Given the description of an element on the screen output the (x, y) to click on. 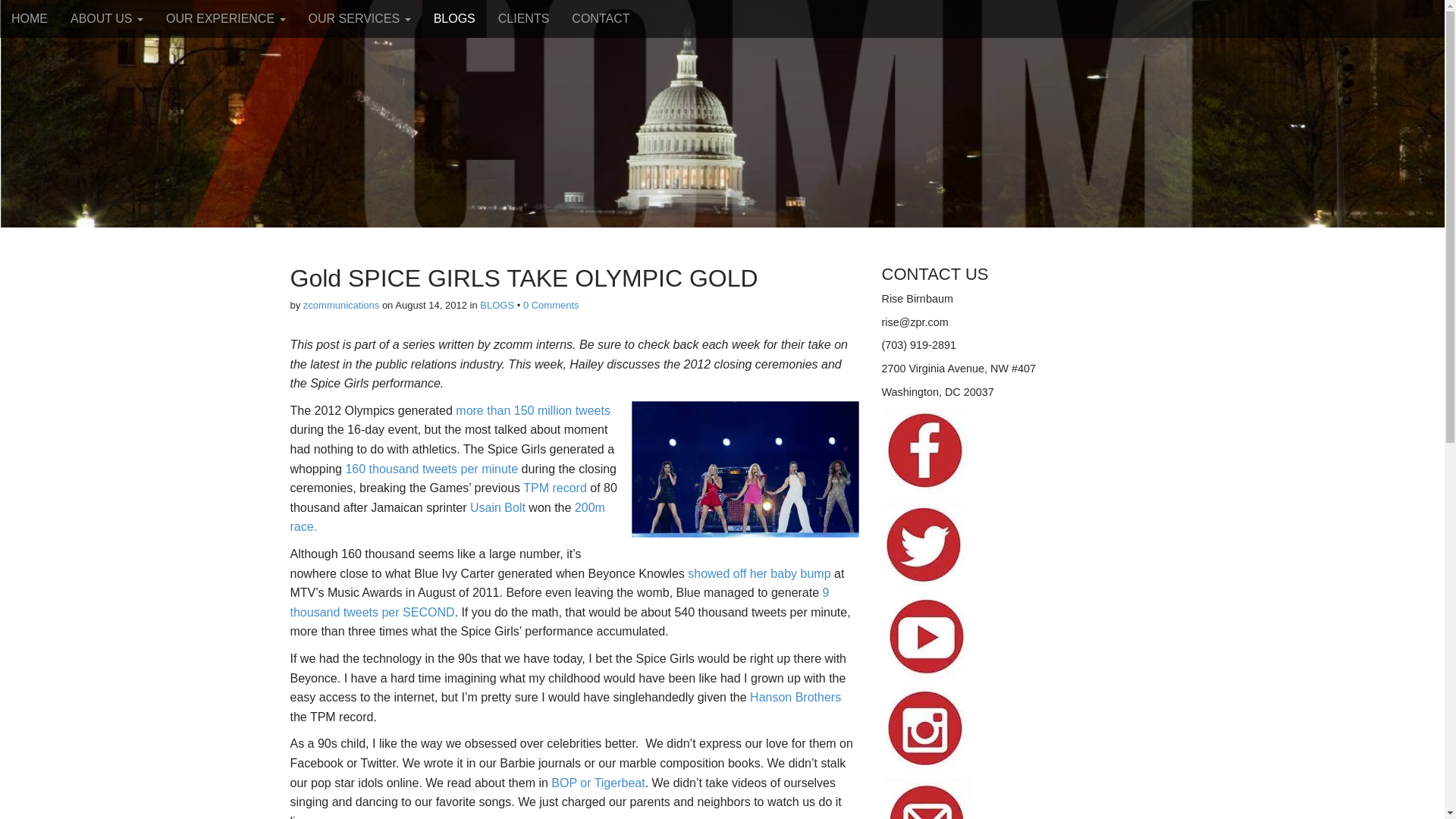
HOME (29, 18)
spice girls (744, 469)
August 14, 2012 (430, 305)
Posts by zcommunications (340, 305)
zcommunications (340, 305)
ABOUT US (106, 18)
more than 150 million tweets (532, 410)
CONTACT (600, 18)
OUR EXPERIENCE (225, 18)
OUR SERVICES (359, 18)
CLIENTS (523, 18)
BLOGS (454, 18)
BLOGS (496, 305)
0 Comments (550, 305)
